Given the description of an element on the screen output the (x, y) to click on. 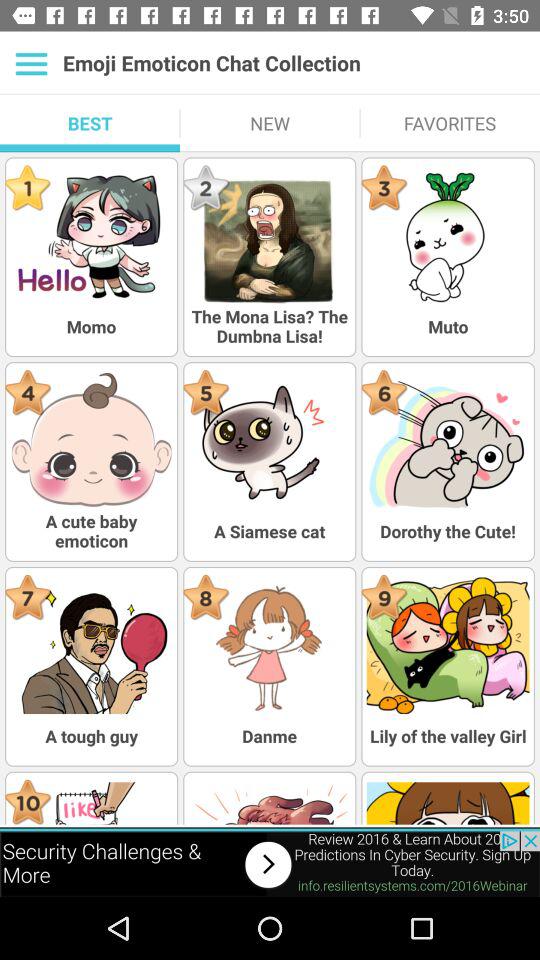
toggle a menu (31, 63)
